Given the description of an element on the screen output the (x, y) to click on. 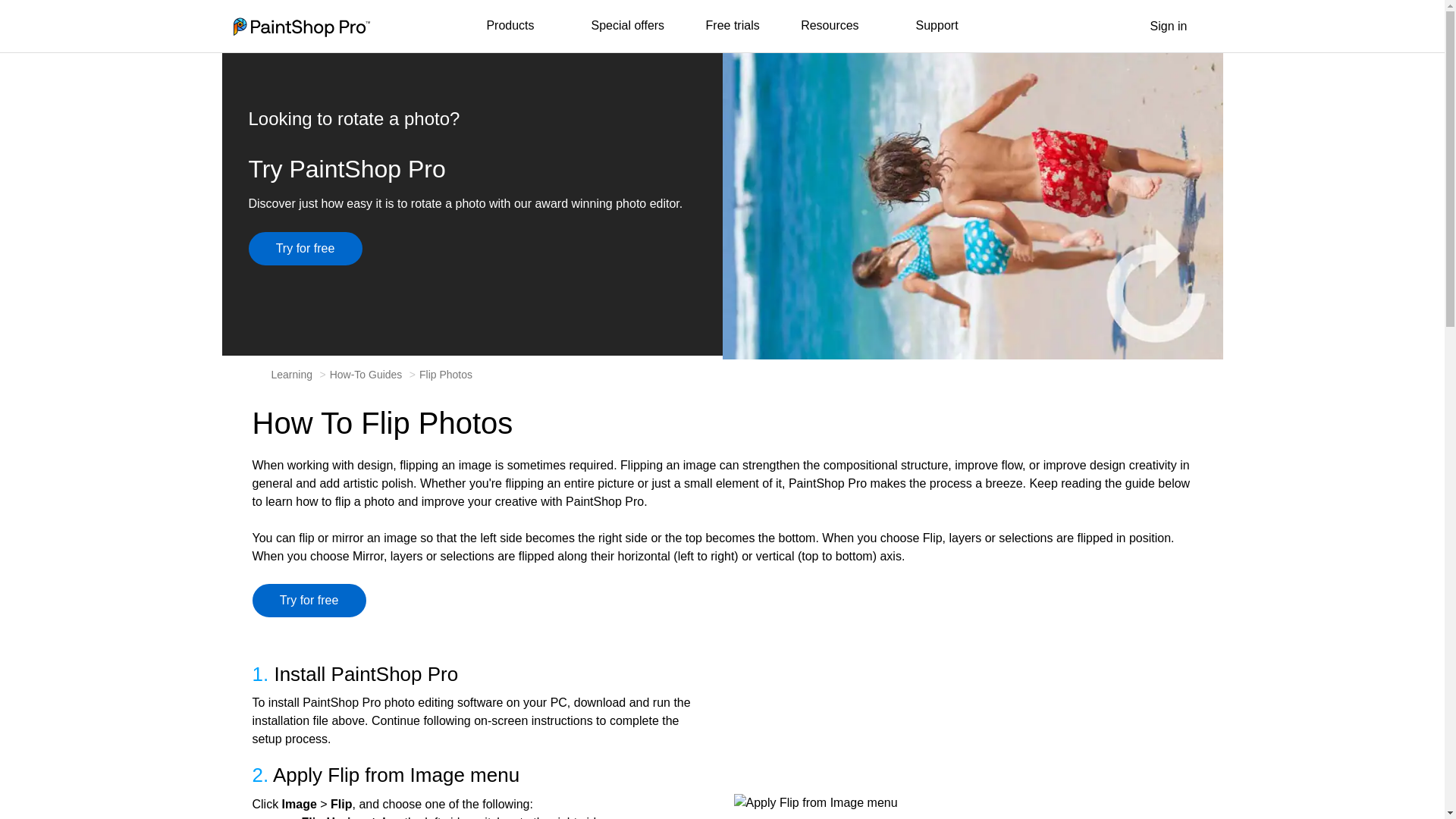
Resources (837, 27)
Free trials (732, 25)
PaintShop Pro (300, 26)
Special offers (627, 25)
Products (518, 27)
